Given the description of an element on the screen output the (x, y) to click on. 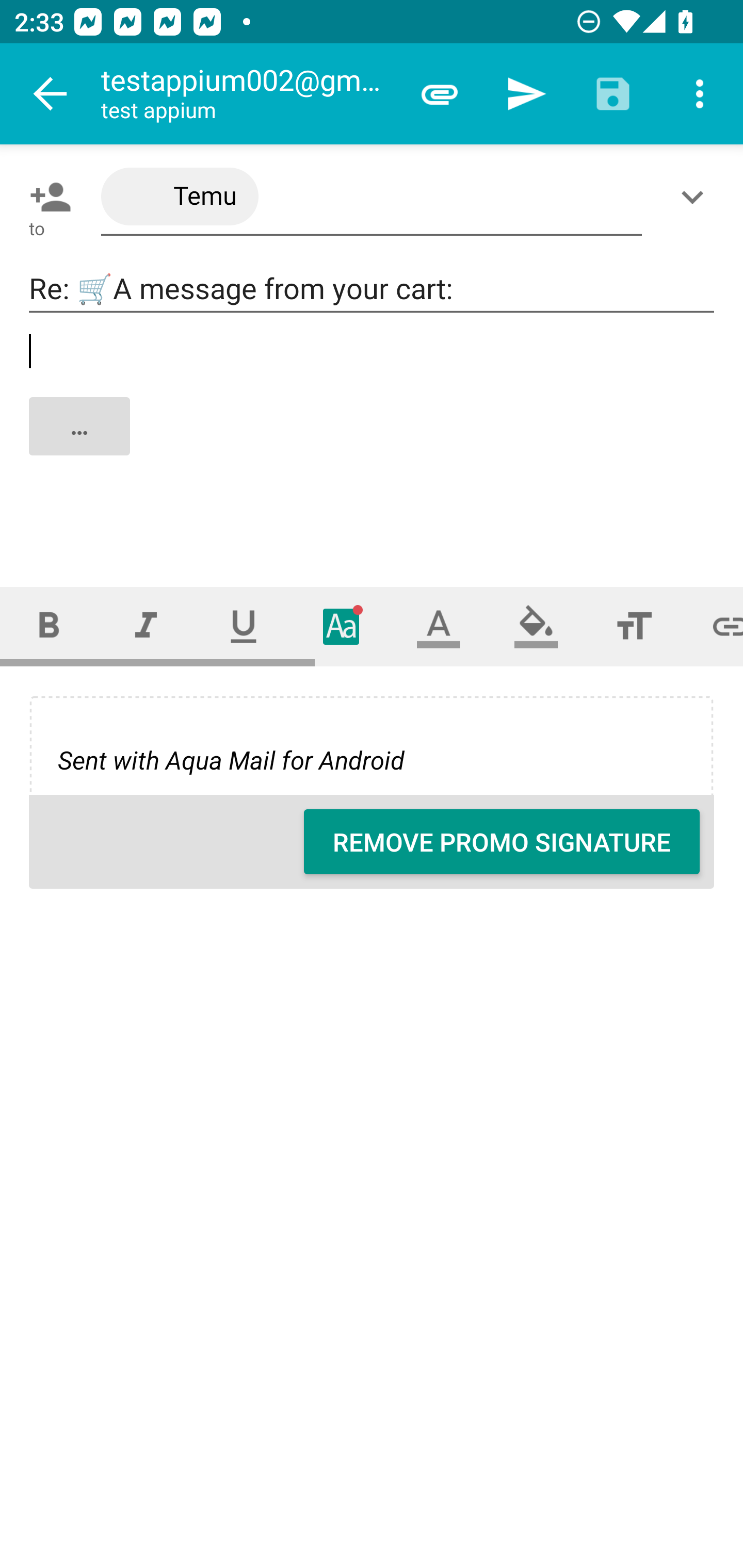
Navigate up (50, 93)
testappium002@gmail.com test appium (248, 93)
Attach (439, 93)
Send (525, 93)
Save (612, 93)
More options (699, 93)
Temu <temu@shop.temuofficial.com>,  (371, 197)
Pick contact: To (46, 196)
Show/Add CC/BCC (696, 196)
Re: 🛒A message from your cart: (371, 288)

…
 (372, 442)
Bold (48, 626)
Italic (145, 626)
Underline (243, 626)
Typeface (font) (341, 626)
Text color (438, 626)
Fill color (536, 626)
Font size (633, 626)
REMOVE PROMO SIGNATURE (501, 841)
